Given the description of an element on the screen output the (x, y) to click on. 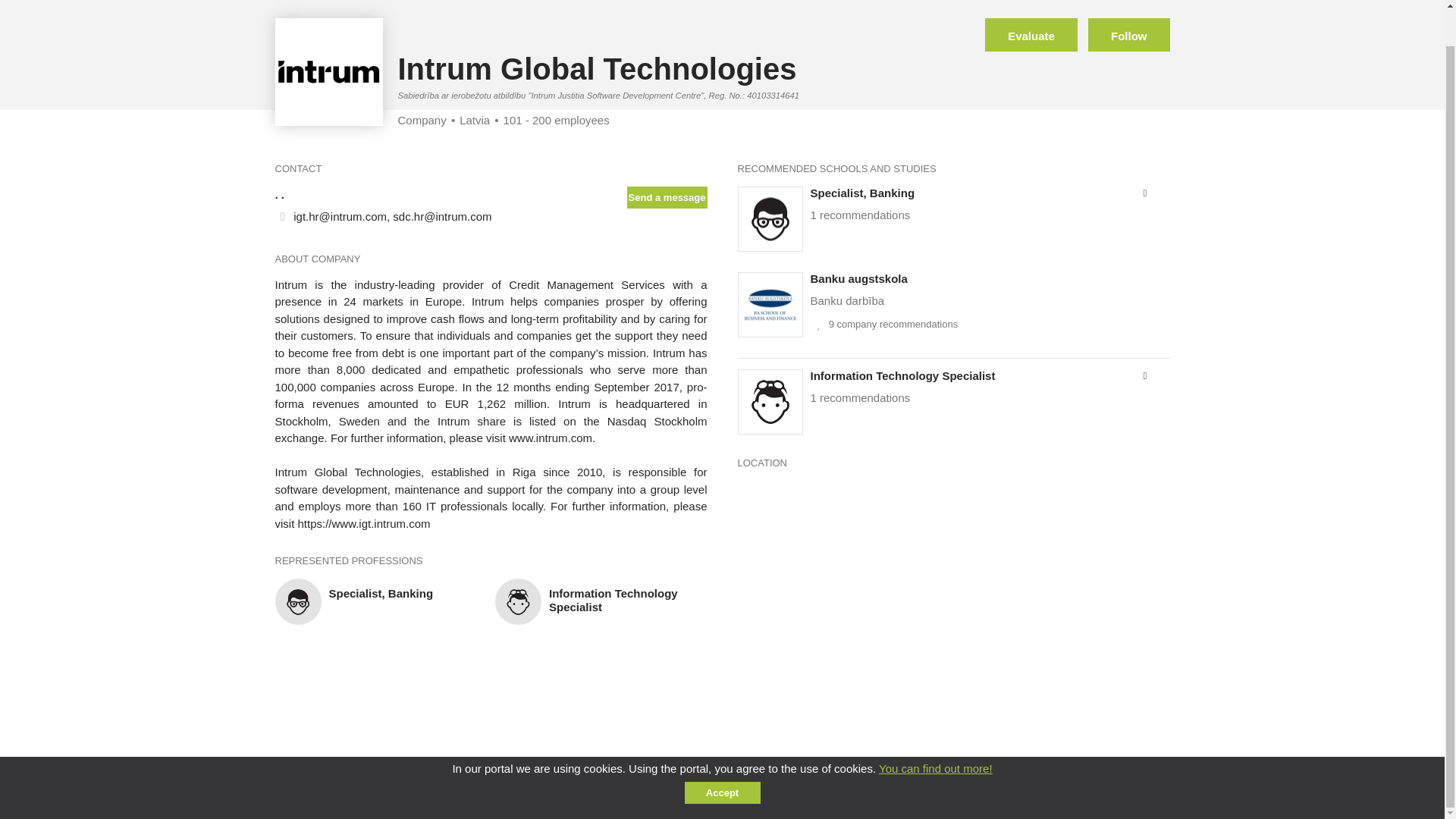
PRIVACY POLICY (940, 796)
CONTACTS (858, 796)
TERMS OF USE (1032, 796)
Banku augstskola (858, 278)
Information Technology Specialist (901, 375)
Information Technology Specialist (613, 600)
REPORT AN ISSUE (770, 796)
Evaluate (1031, 34)
Follow (1128, 34)
 BACK TO TOP (310, 796)
